Given the description of an element on the screen output the (x, y) to click on. 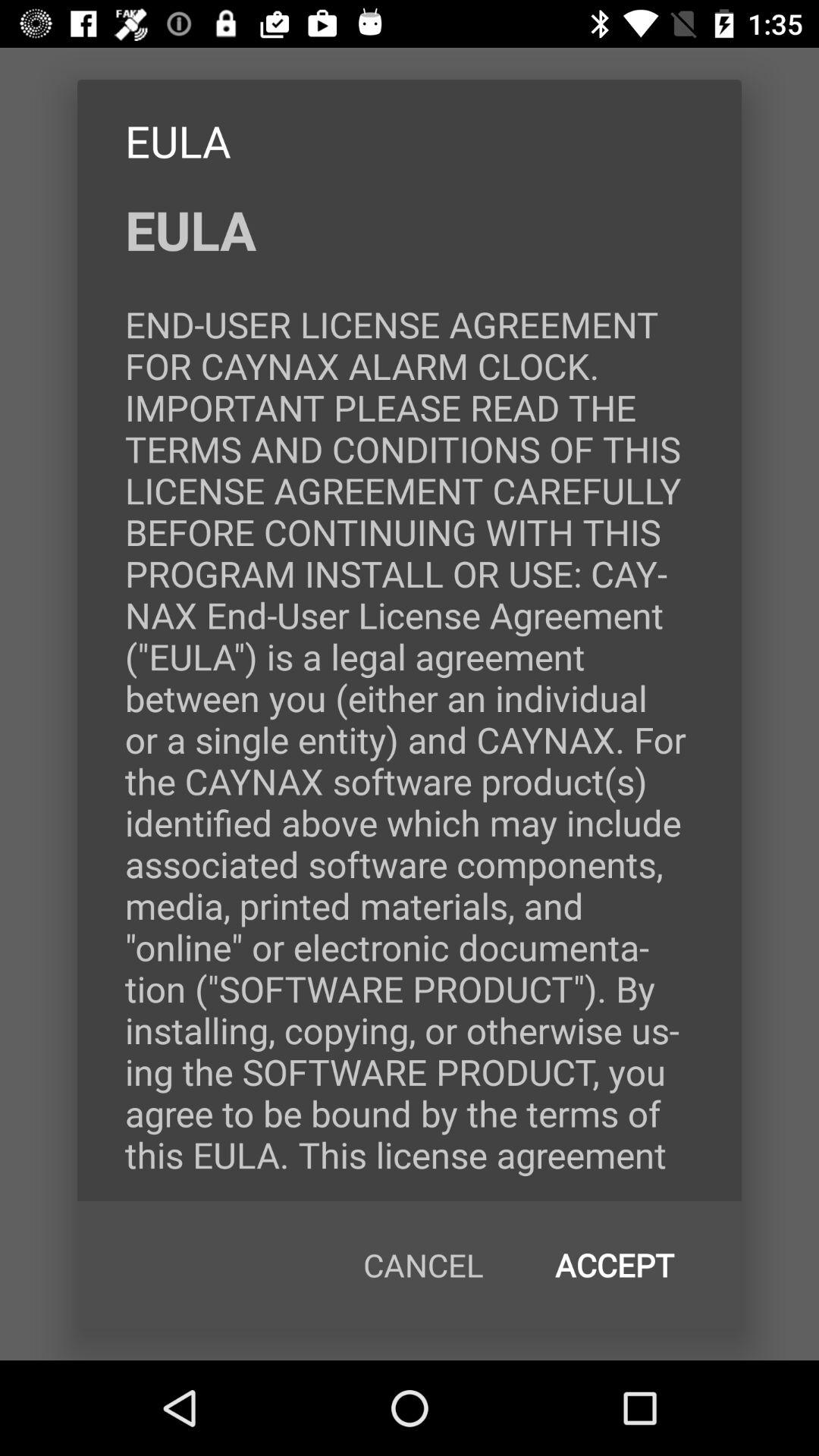
choose the accept at the bottom right corner (613, 1264)
